Given the description of an element on the screen output the (x, y) to click on. 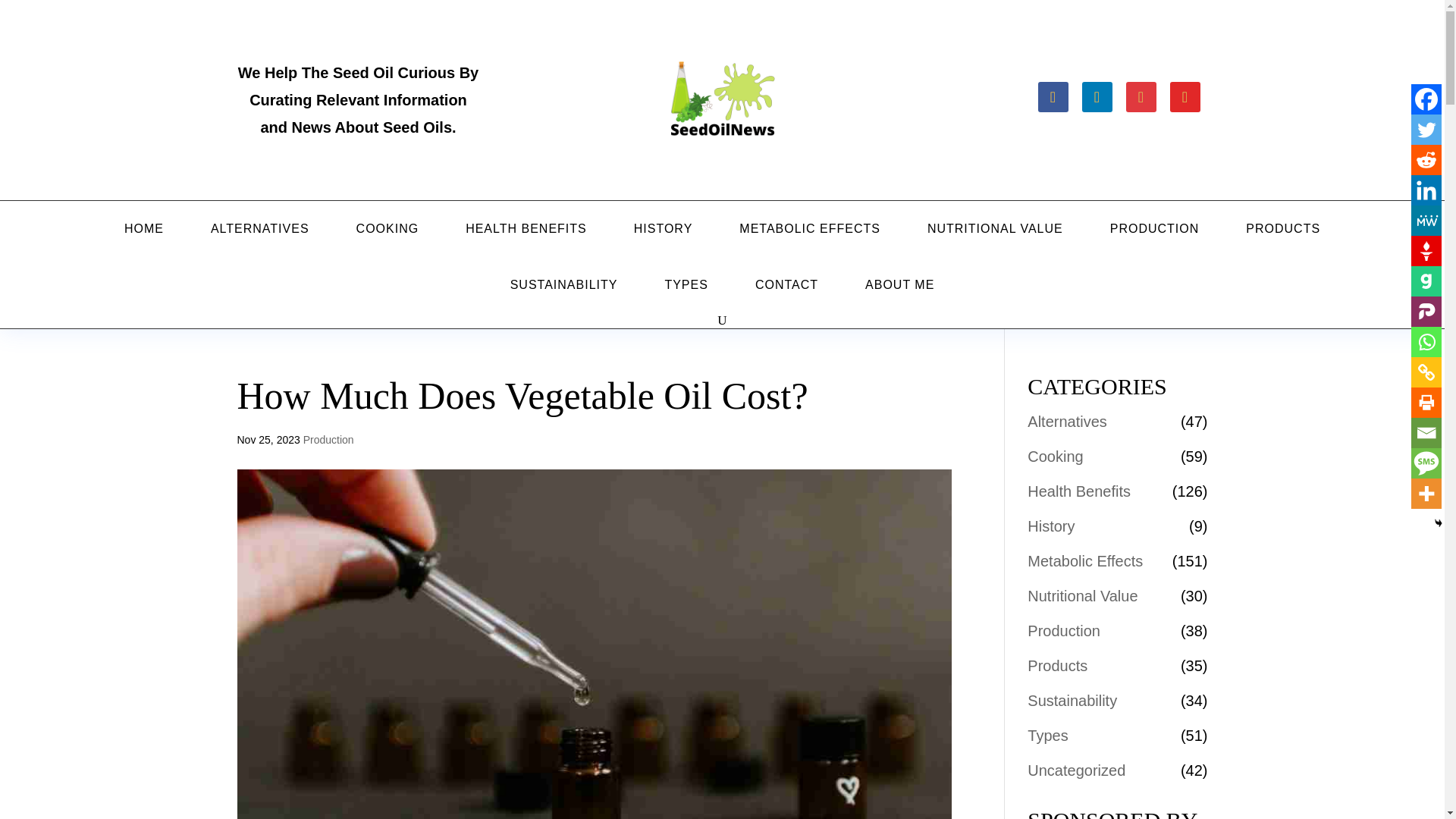
Production (327, 439)
COOKING (386, 228)
SUSTAINABILITY (564, 284)
Linkedin (1425, 190)
HOME (144, 228)
TYPES (685, 284)
HISTORY (662, 228)
seed-oil-news (721, 100)
HEALTH BENEFITS (525, 228)
ALTERNATIVES (259, 228)
Facebook (1425, 99)
Follow on FlipBoard (1184, 96)
PRODUCTION (1154, 228)
Follow on Facebook (1051, 96)
NUTRITIONAL VALUE (995, 228)
